Given the description of an element on the screen output the (x, y) to click on. 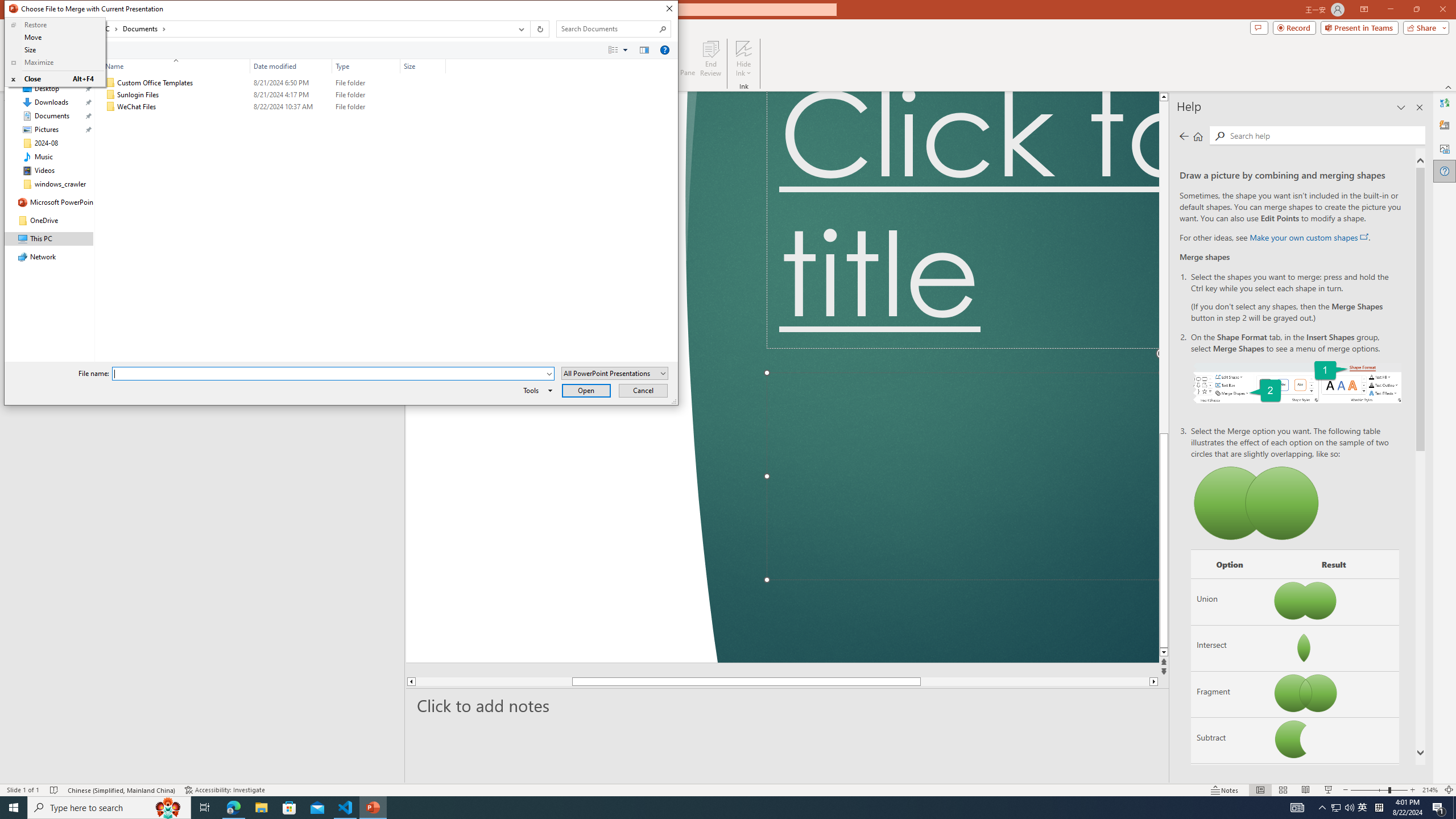
Tools (535, 390)
Navigation buttons (28, 28)
Hide Ink (743, 58)
This PC (102, 28)
Date modified (290, 106)
Hide Ink (743, 48)
Previous Locations (520, 28)
